Given the description of an element on the screen output the (x, y) to click on. 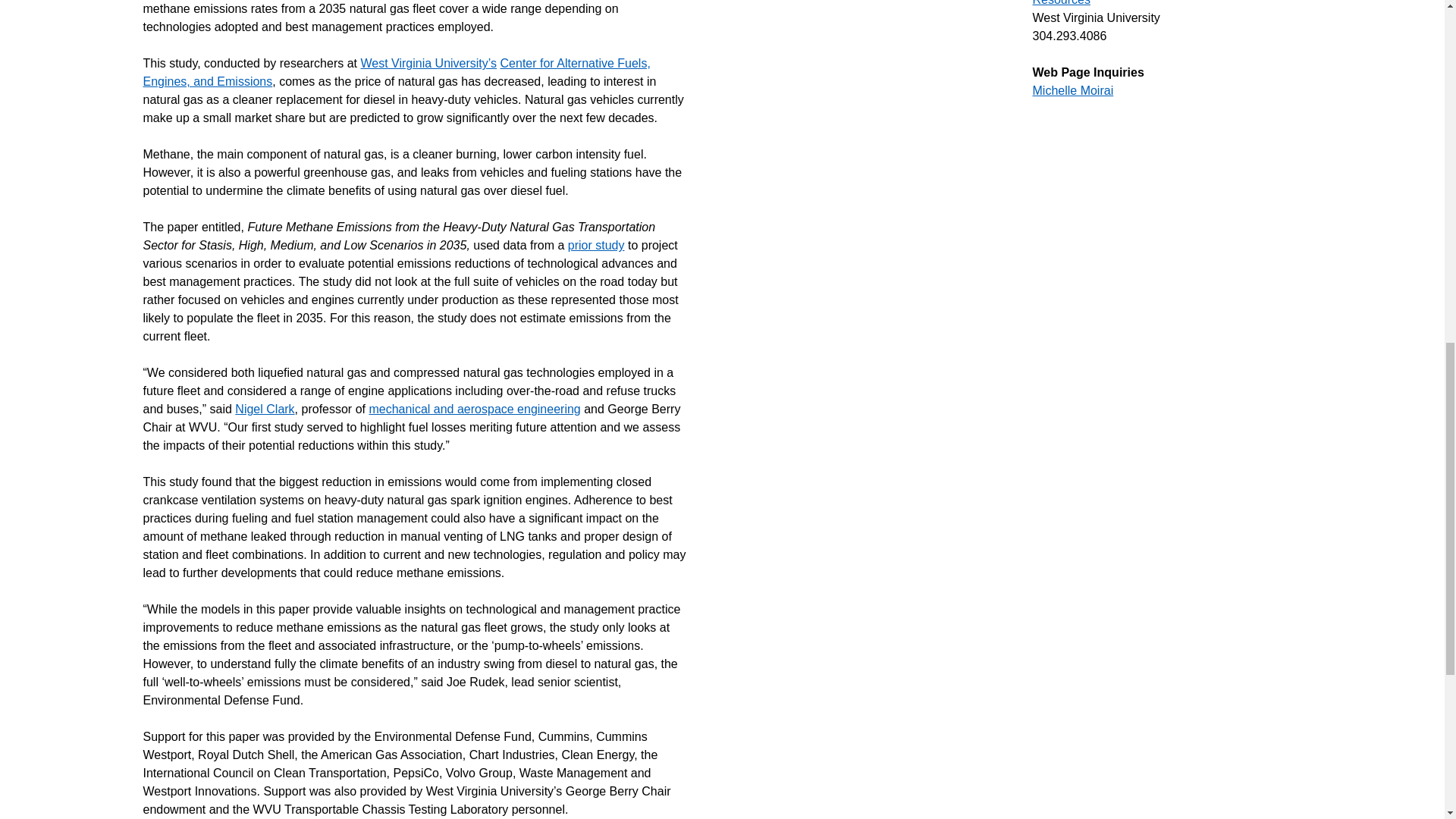
Michelle Moirai (1072, 90)
Center for Alternative Fuels, Engines, and Emissions (395, 71)
mechanical and aerospace engineering (473, 408)
Statler College of Engineering and Mineral Resources (1146, 2)
prior study (595, 245)
Nigel Clark (264, 408)
